Given the description of an element on the screen output the (x, y) to click on. 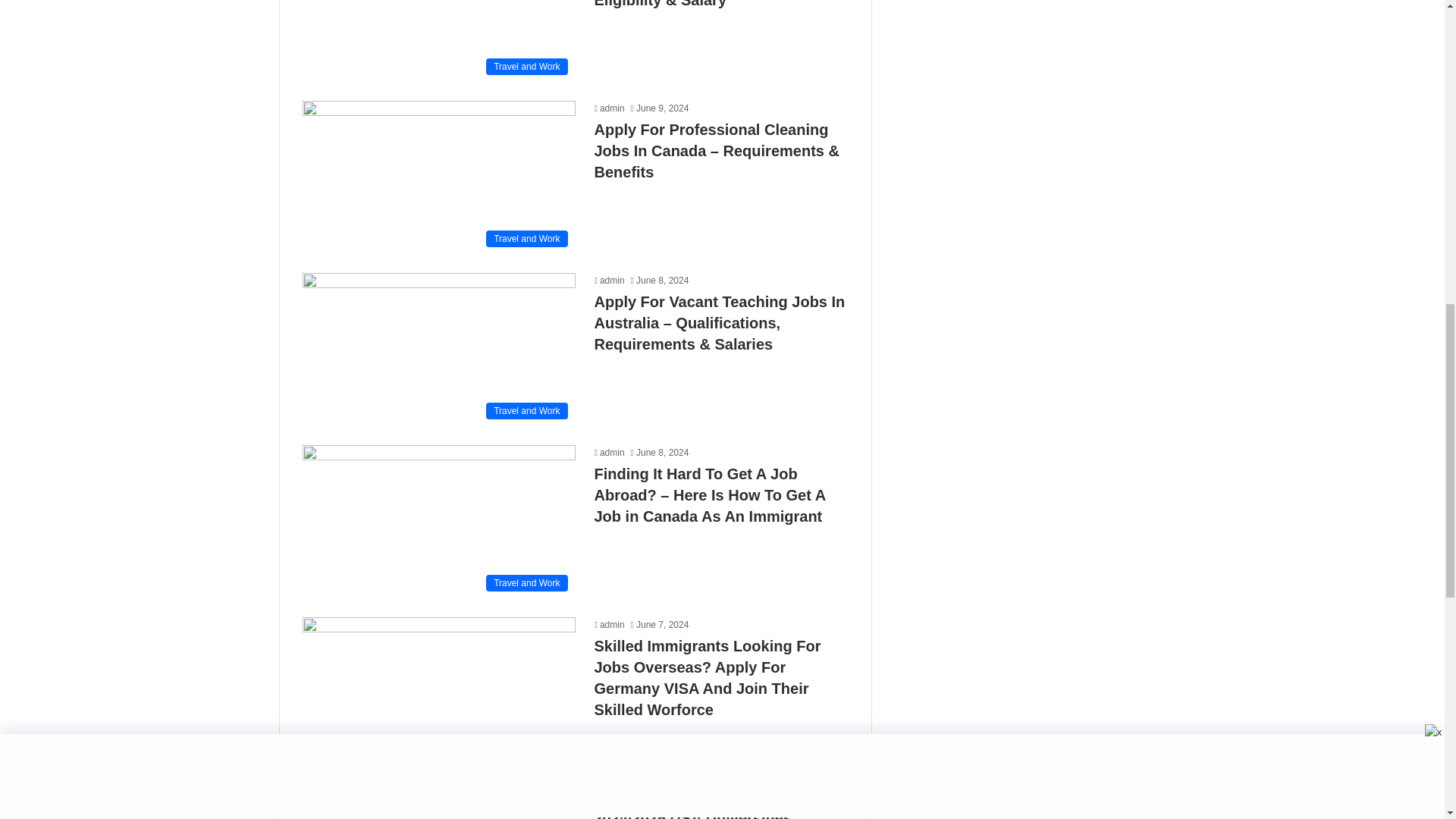
Scholarship (438, 804)
European Countries (438, 694)
Travel and Work (438, 41)
Travel and Work (438, 349)
Travel and Work (438, 521)
Travel and Work (438, 177)
